Given the description of an element on the screen output the (x, y) to click on. 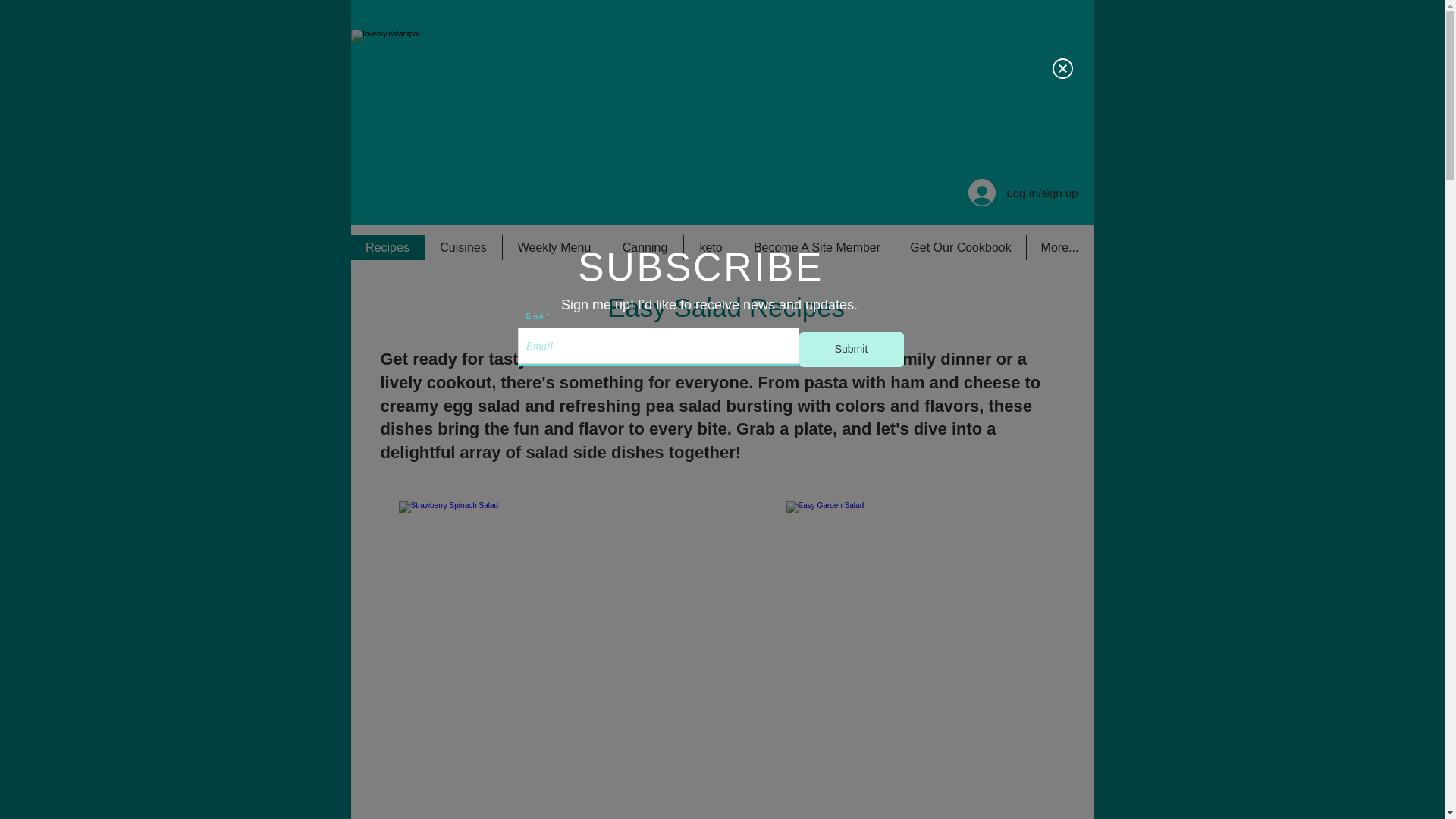
Ham and Cheese Pasta Salad (914, 660)
Recipes (386, 247)
Strawberry Spinach Salad (527, 660)
